Given the description of an element on the screen output the (x, y) to click on. 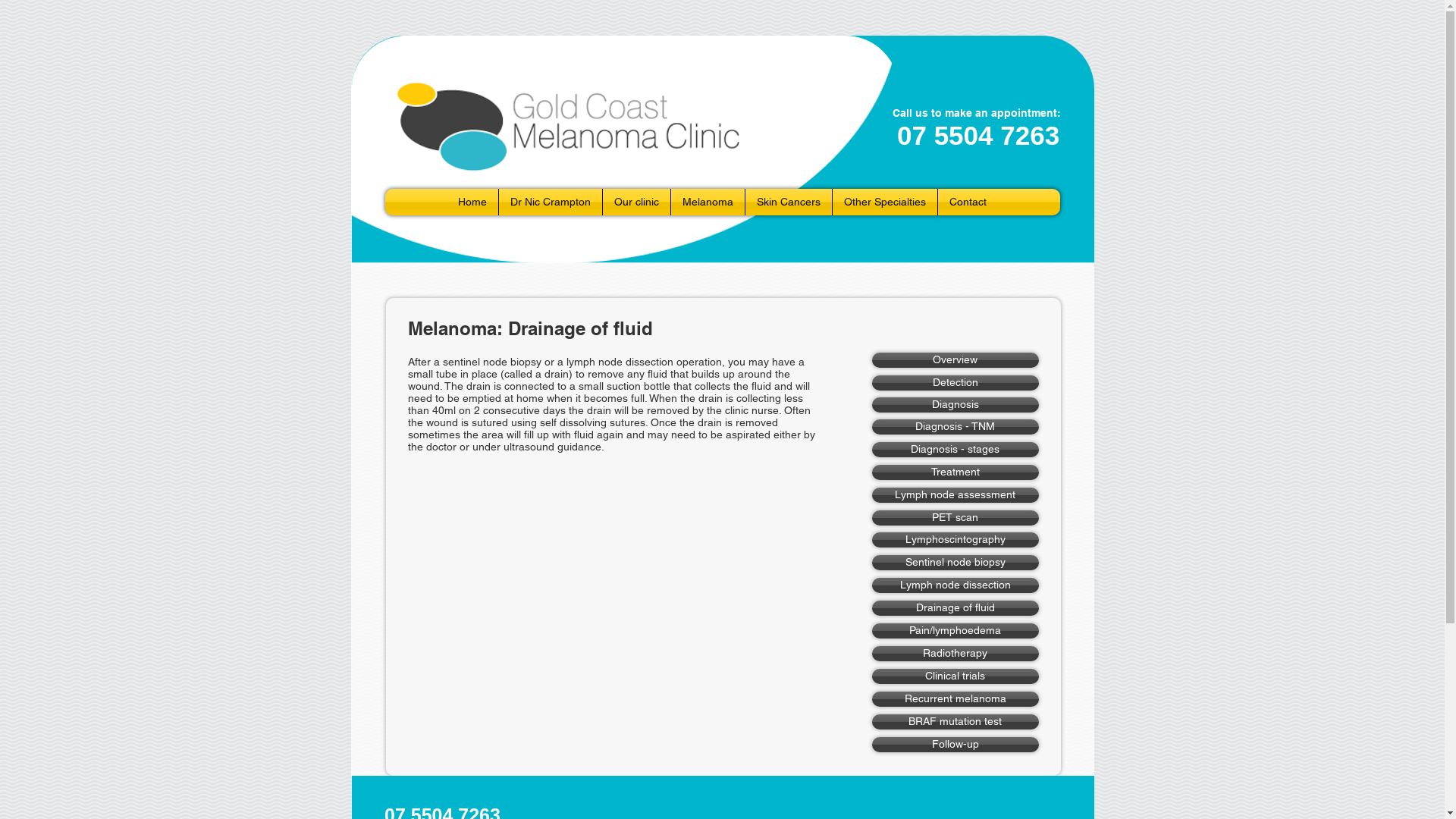
Pain/lymphoedema Element type: text (955, 630)
Embedded Content Element type: hover (986, 138)
Recurrent melanoma Element type: text (955, 698)
PET scan Element type: text (955, 517)
Sentinel node biopsy Element type: text (955, 562)
Melanoma Element type: text (707, 201)
Our clinic Element type: text (636, 201)
Drainage of fluid Element type: text (955, 607)
header.png Element type: hover (623, 149)
Dr Nic Crampton Element type: text (550, 201)
Contact Element type: text (967, 201)
Diagnosis Element type: text (955, 404)
Diagnosis - TNM Element type: text (955, 426)
Overview Element type: text (955, 359)
Lymphoscintography Element type: text (955, 539)
Skin Cancers Element type: text (788, 201)
Detection Element type: text (955, 382)
Radiotherapy Element type: text (955, 653)
BRAF mutation test Element type: text (955, 721)
Home Element type: text (472, 201)
Lymph node assessment Element type: text (955, 494)
Treatment Element type: text (955, 472)
Follow-up Element type: text (955, 744)
Diagnosis - stages Element type: text (955, 449)
Lymph node dissection Element type: text (955, 585)
Other Specialties Element type: text (884, 201)
Clinical trials Element type: text (955, 676)
